Given the description of an element on the screen output the (x, y) to click on. 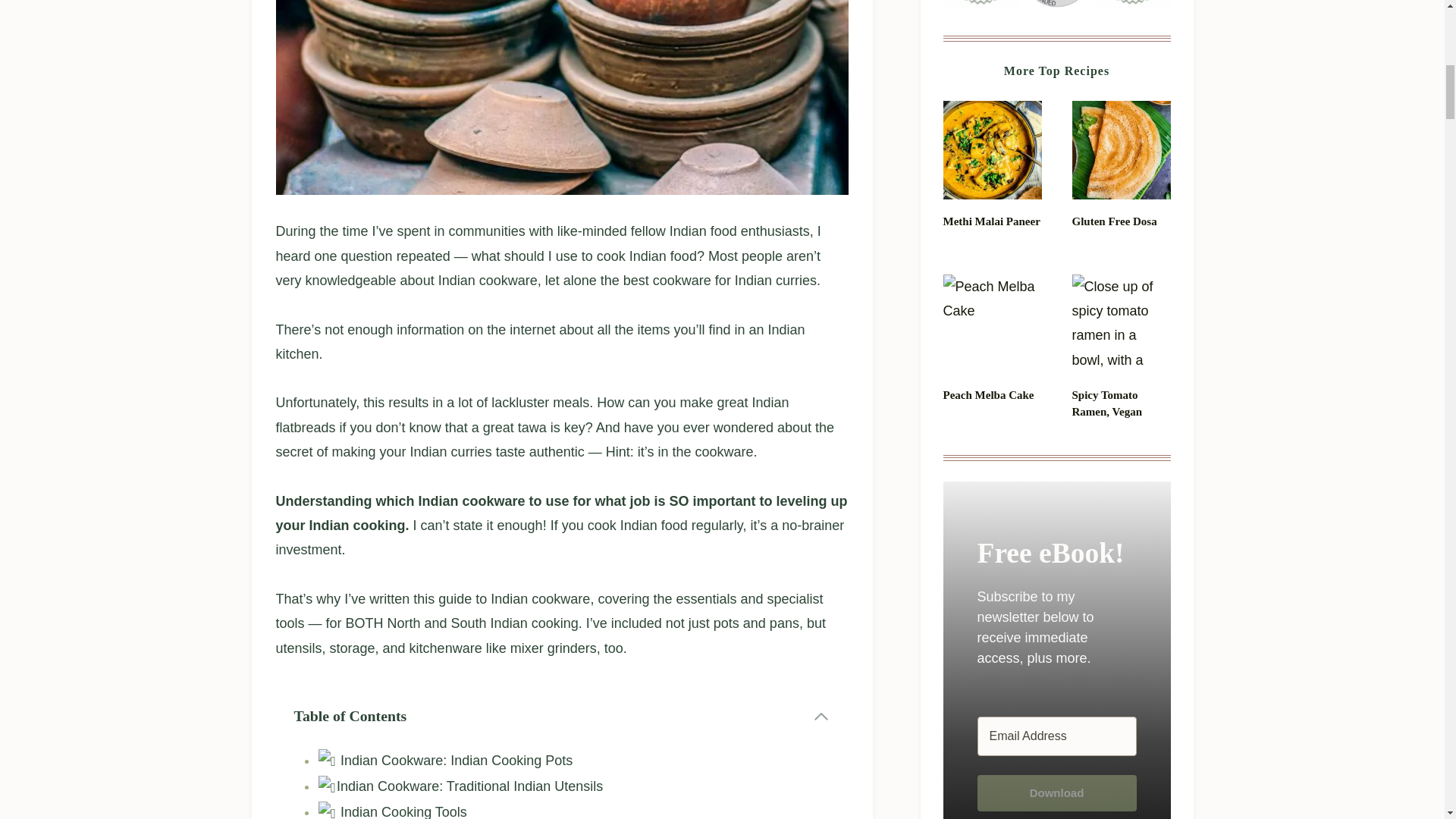
Indian Cookware: Traditional Indian Utensils (459, 785)
Indian Cookware: Indian Cooking Pots (444, 760)
Indian Cooking Tools (392, 811)
